Given the description of an element on the screen output the (x, y) to click on. 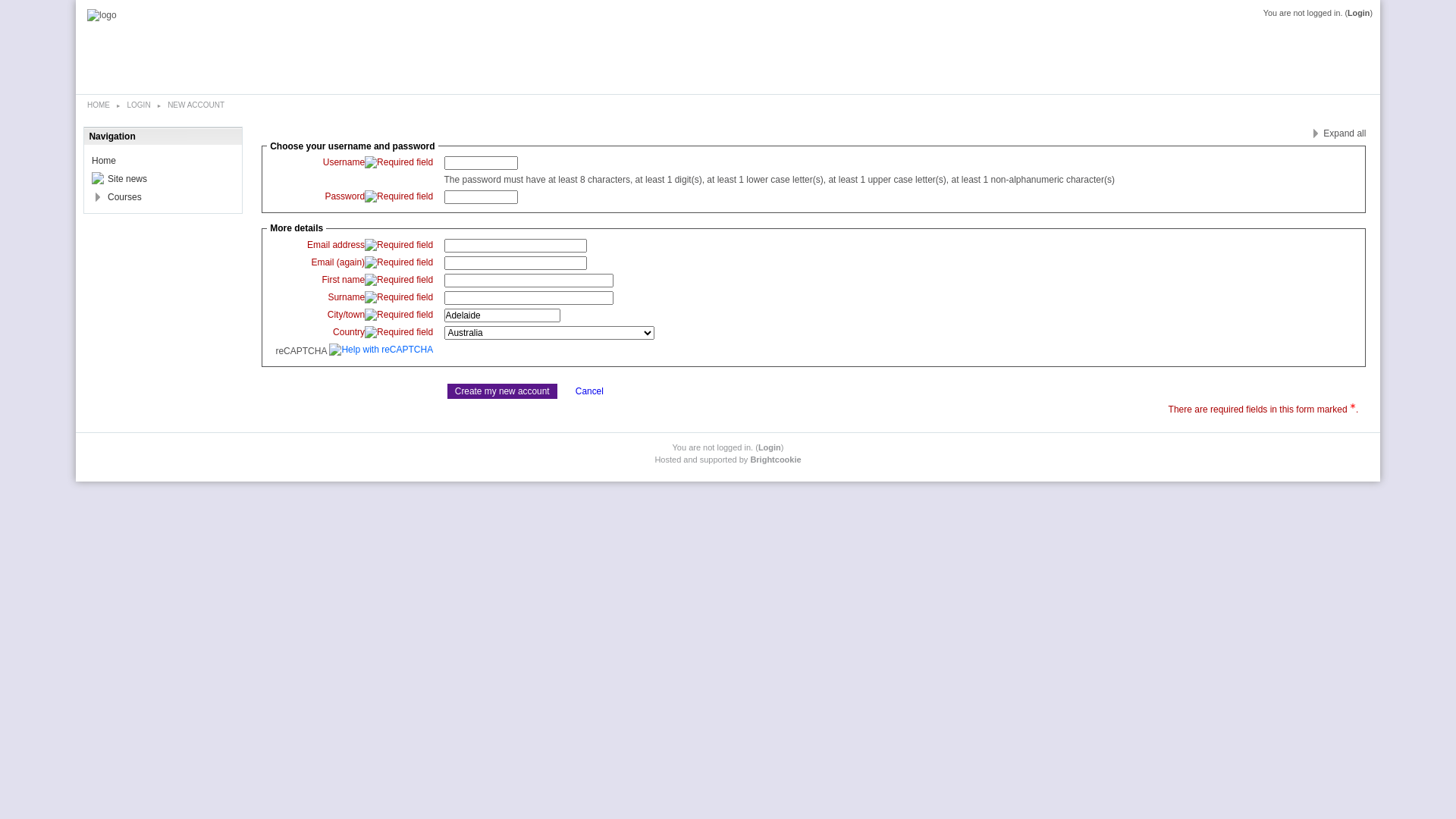
HOME Element type: text (98, 104)
Help with reCAPTCHA Element type: hover (379, 350)
Required field Element type: hover (398, 314)
Forum Element type: hover (97, 178)
Site news Element type: text (127, 178)
Cancel Element type: text (589, 390)
Required field Element type: hover (398, 162)
Required field Element type: hover (398, 297)
Required field Element type: hover (398, 332)
Required field Element type: hover (398, 196)
Login Element type: text (769, 446)
Home Element type: text (103, 160)
Courses Element type: text (124, 196)
Brightcookie Element type: text (774, 459)
Required field Element type: hover (398, 262)
Required field Element type: hover (398, 244)
Required field Element type: hover (398, 279)
Create my new account Element type: text (502, 390)
Login Element type: text (1358, 12)
